Given the description of an element on the screen output the (x, y) to click on. 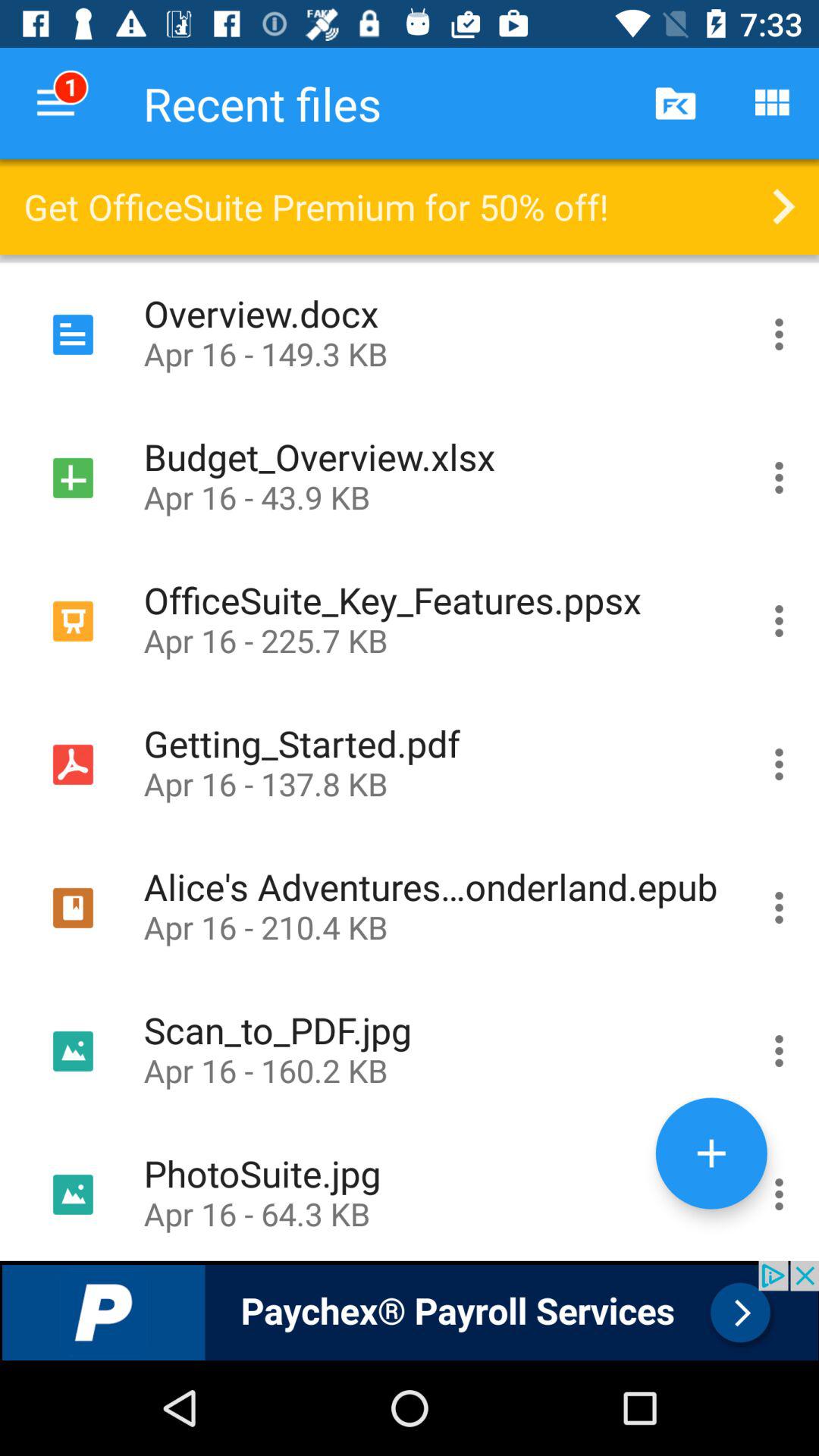
select budget overview (779, 477)
